Given the description of an element on the screen output the (x, y) to click on. 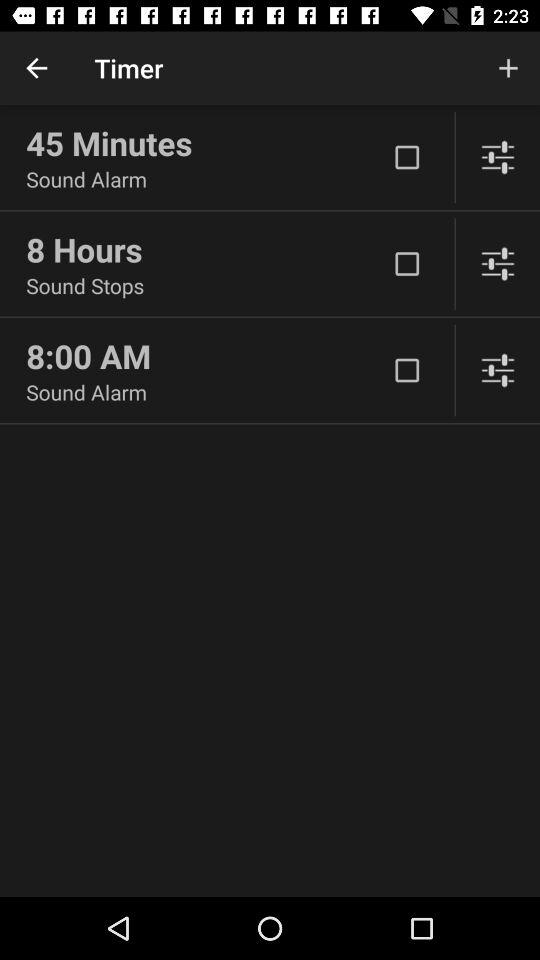
select the eight hours sound stops option (407, 264)
